Given the description of an element on the screen output the (x, y) to click on. 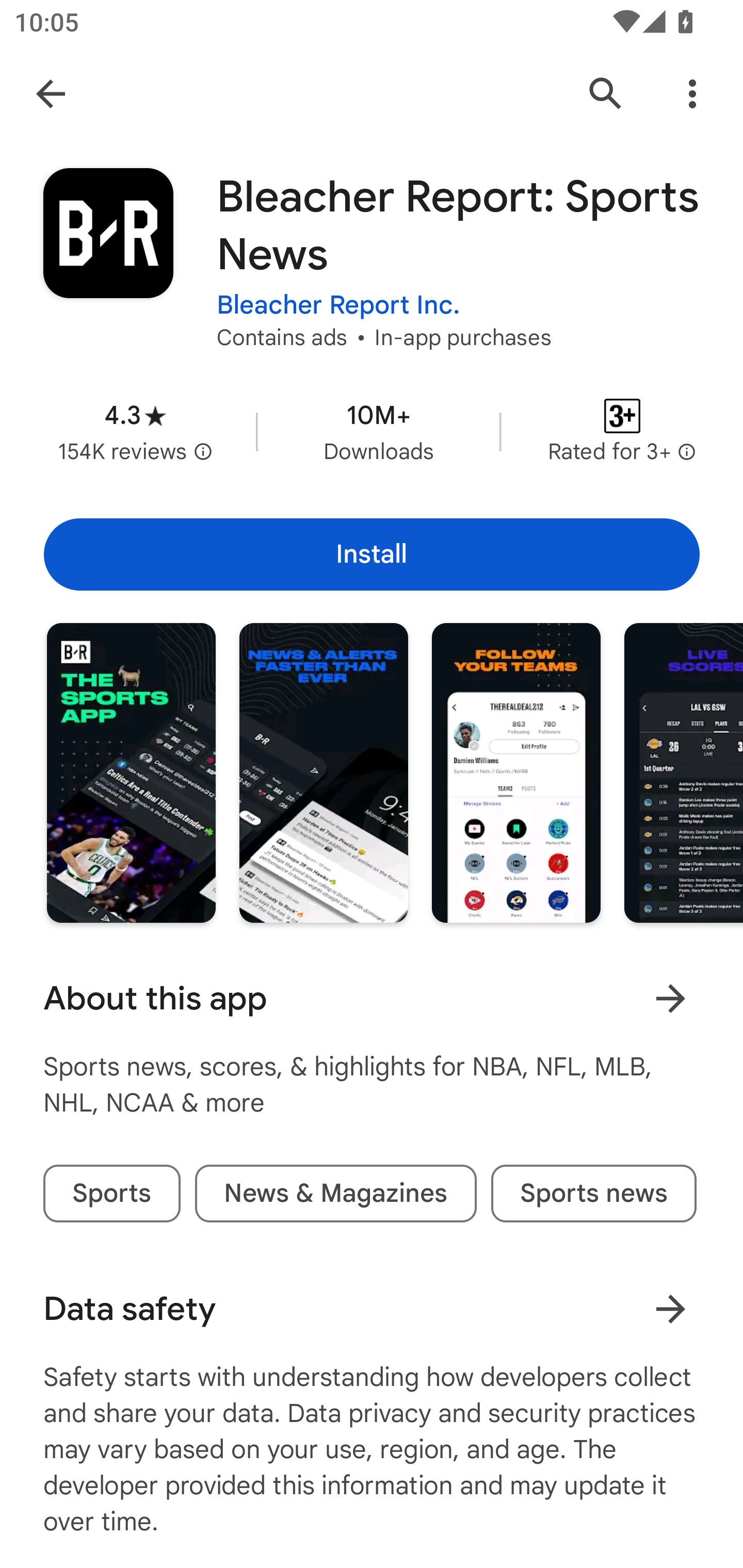
Navigate up (50, 93)
Search Google Play (605, 93)
More Options (692, 93)
Bleacher Report Inc. (338, 304)
Average rating 4.3 stars in 154 thousand reviews (135, 431)
Content rating Rated for 3+ (622, 431)
Install (371, 554)
Screenshot "1" of "8" (130, 771)
Screenshot "2" of "8" (323, 771)
Screenshot "3" of "8" (515, 771)
Screenshot "4" of "8" (683, 771)
About this app Learn more About this app (371, 998)
Learn more About this app (670, 997)
Sports tag (111, 1193)
News & Magazines tag (335, 1193)
Sports news tag (593, 1193)
Data safety Learn more about data safety (371, 1309)
Learn more about data safety (670, 1308)
